Given the description of an element on the screen output the (x, y) to click on. 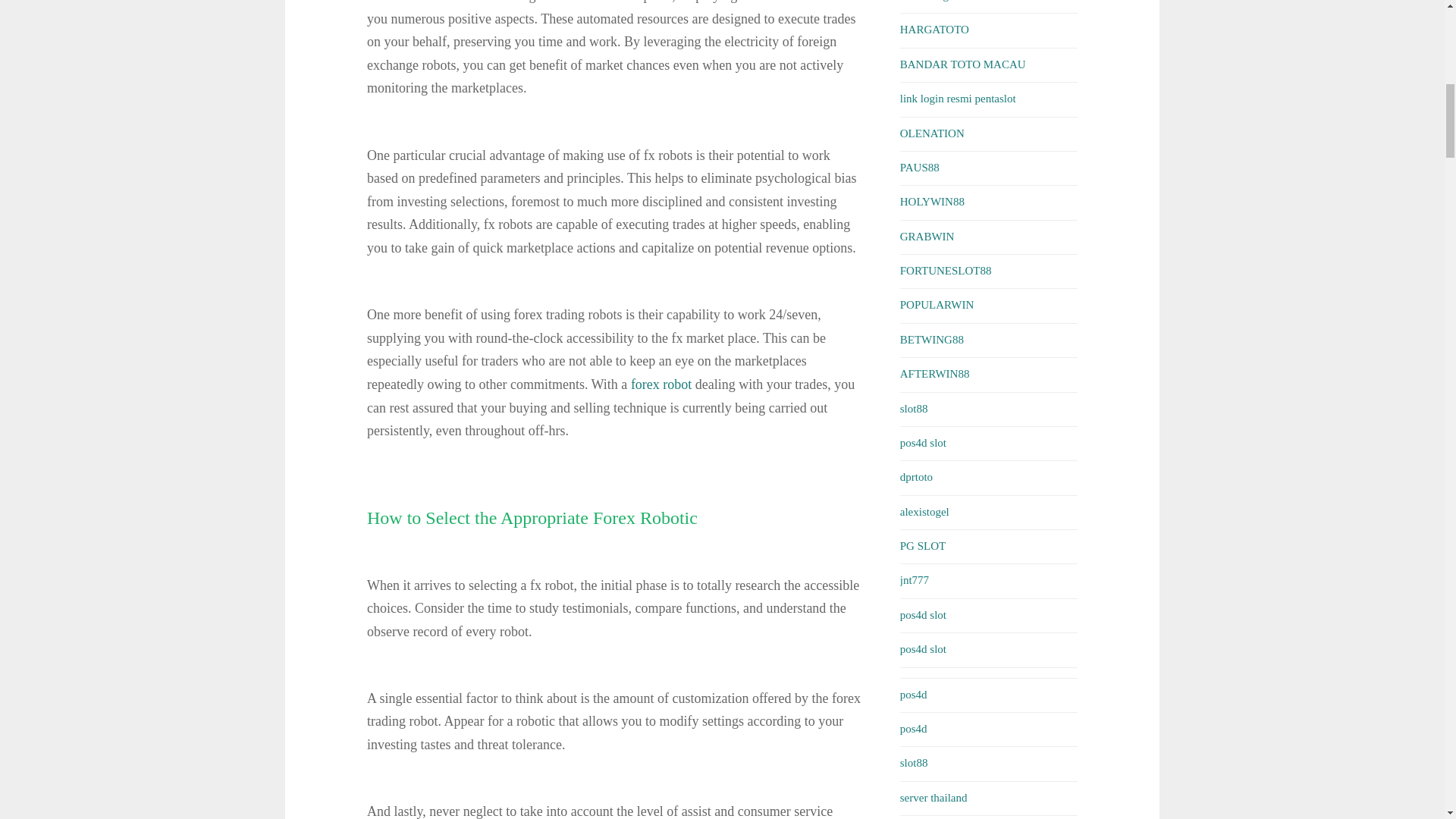
BETWING88 (931, 339)
PAUS88 (919, 167)
POPULARWIN (936, 304)
HOLYWIN88 (931, 201)
situs slot gacor (933, 0)
GRABWIN (927, 236)
forex robot (660, 384)
FORTUNESLOT88 (945, 270)
OLENATION (931, 133)
AFTERWIN88 (934, 373)
